Given the description of an element on the screen output the (x, y) to click on. 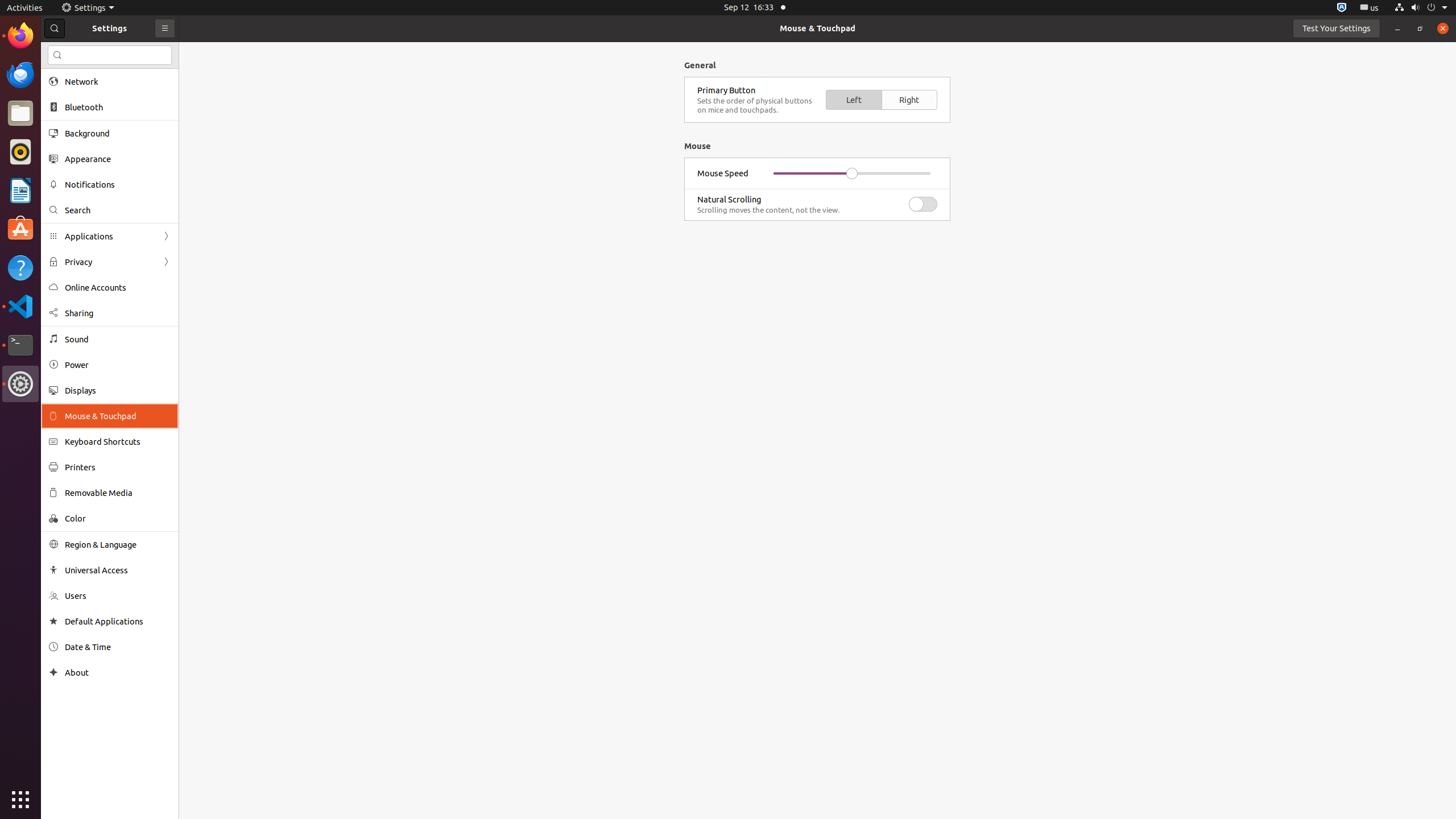
General Element type: label (700, 64)
luyi1 Element type: label (75, 50)
General Element type: panel (817, 91)
Region & Language Element type: label (117, 544)
